Given the description of an element on the screen output the (x, y) to click on. 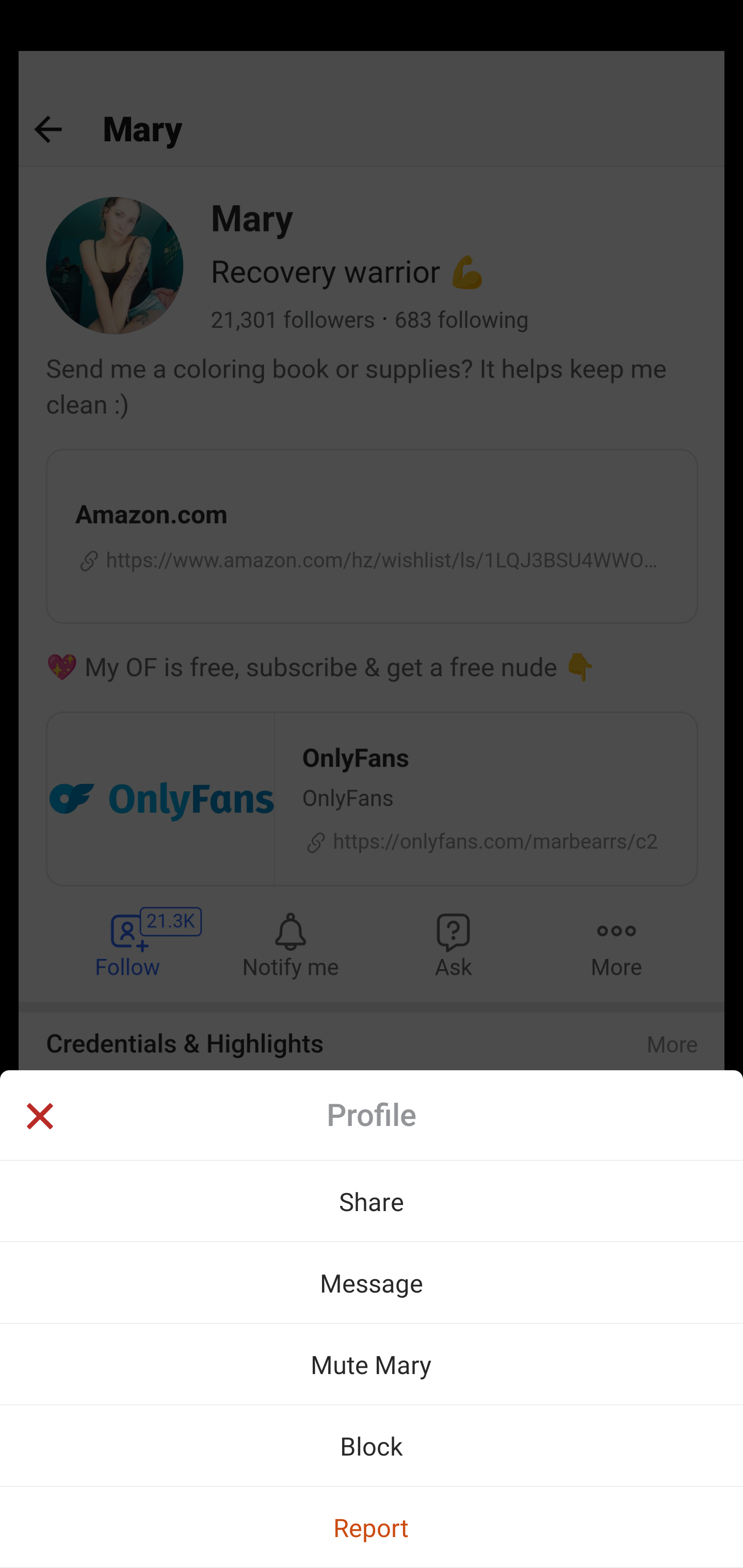
 Profile (371, 1115)
 (39, 1117)
Share (371, 1200)
Message (371, 1282)
Mute Mary (371, 1363)
Block (371, 1445)
Report (371, 1527)
